Given the description of an element on the screen output the (x, y) to click on. 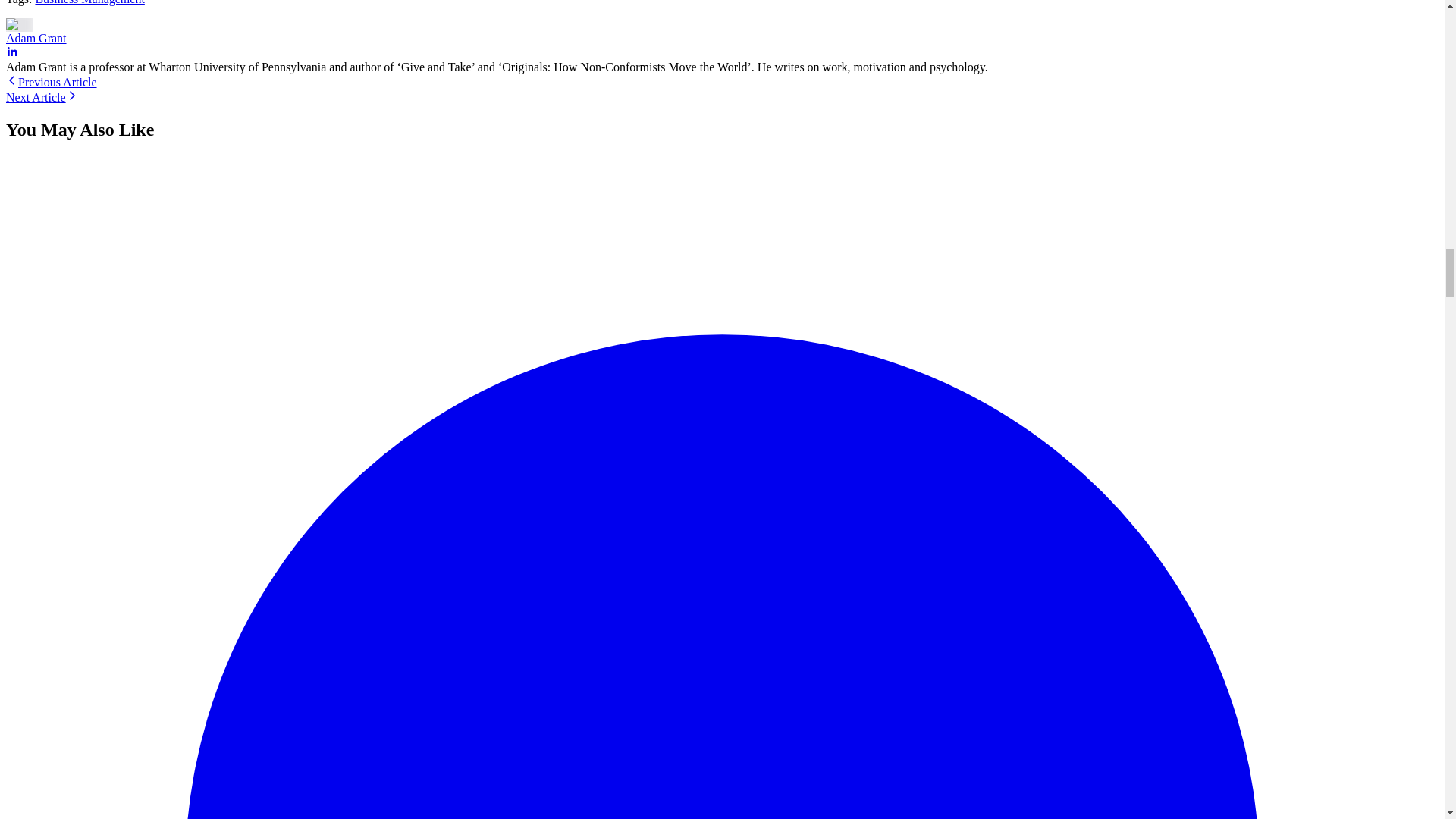
Next Article (41, 97)
Adam Grant (35, 38)
Previous Article (51, 82)
Business Management (89, 2)
